Given the description of an element on the screen output the (x, y) to click on. 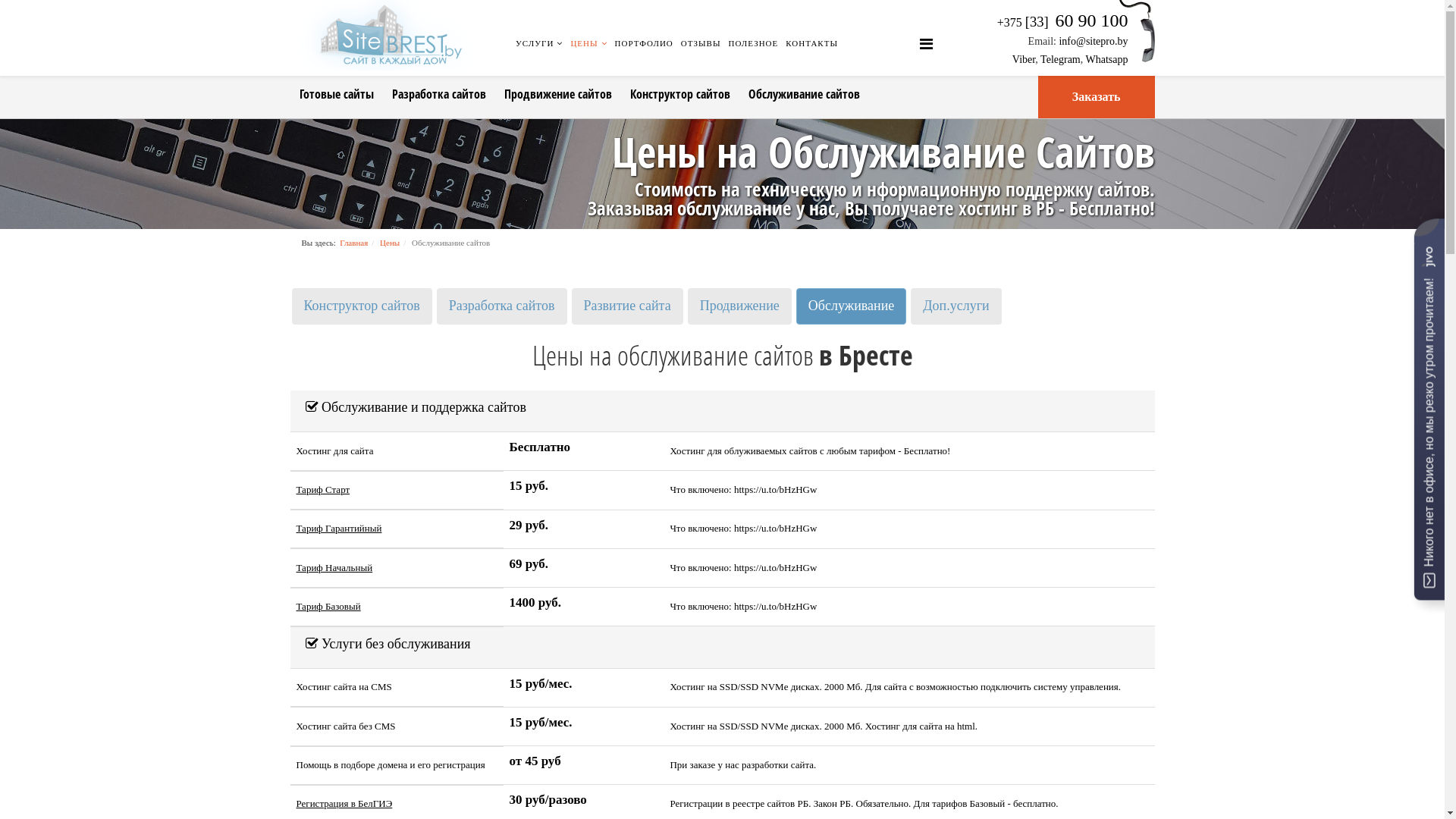
Whatsapp Element type: text (1106, 59)
info@sitepro.by Element type: text (1092, 41)
Helix Megamenu Options Element type: hover (925, 43)
Telegram Element type: text (1060, 59)
+375 [33]  60 90 100 Element type: text (1062, 21)
Viber Element type: text (1023, 59)
